Given the description of an element on the screen output the (x, y) to click on. 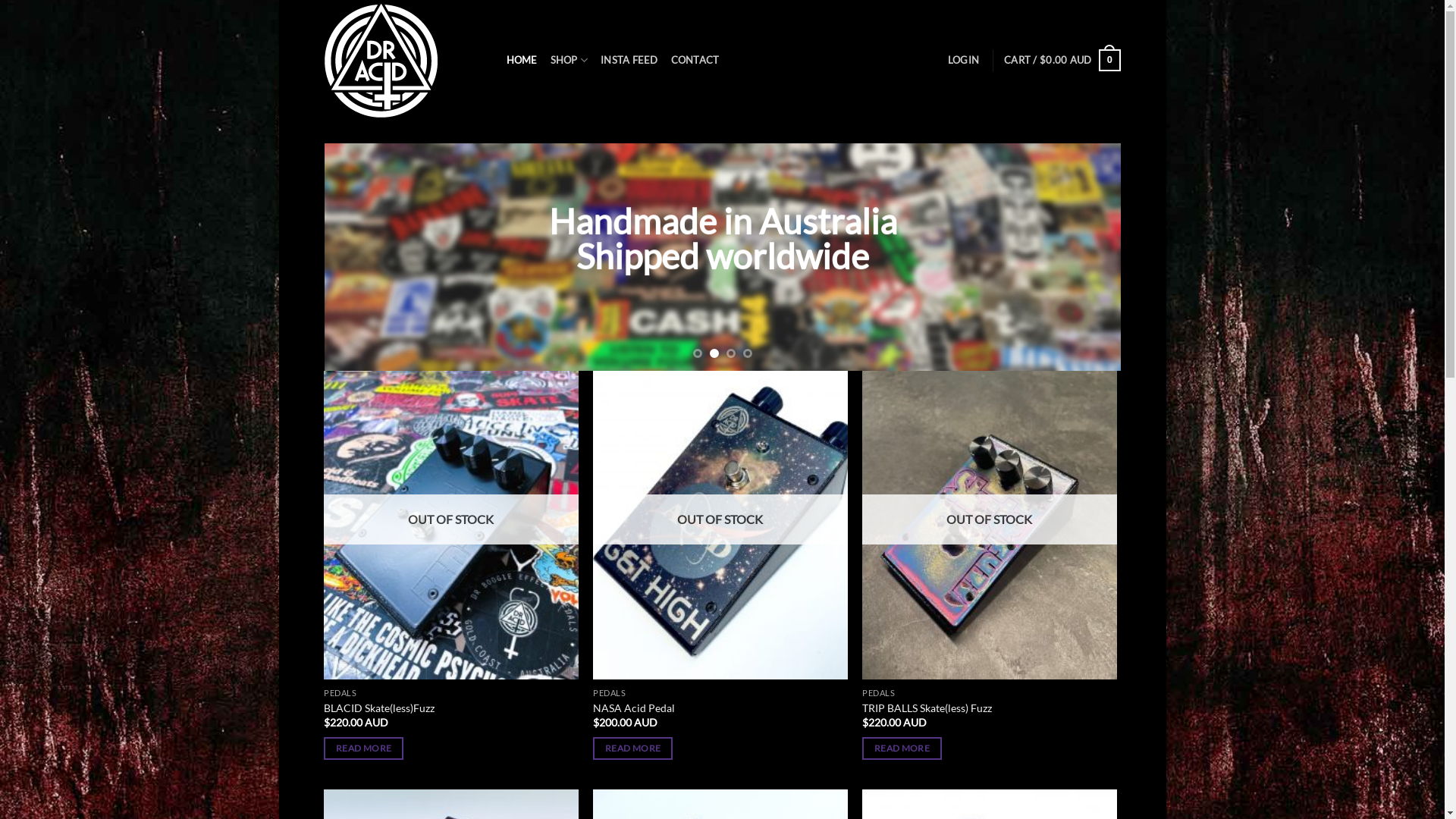
TRIP BALLS Skate(less) Fuzz Element type: text (926, 708)
CART / $0.00 AUD
0 Element type: text (1062, 60)
NASA Acid Pedal Element type: text (633, 708)
Dr Acid Element type: hover (403, 59)
BLACID Skate(less)Fuzz Element type: text (378, 708)
HOME Element type: text (521, 59)
INSTA FEED Element type: text (629, 59)
SHOP Element type: text (568, 59)
READ MORE Element type: text (632, 748)
CONTACT Element type: text (695, 59)
LOGIN Element type: text (963, 59)
READ MORE Element type: text (901, 748)
READ MORE Element type: text (363, 748)
Skip to content Element type: text (279, 0)
